Given the description of an element on the screen output the (x, y) to click on. 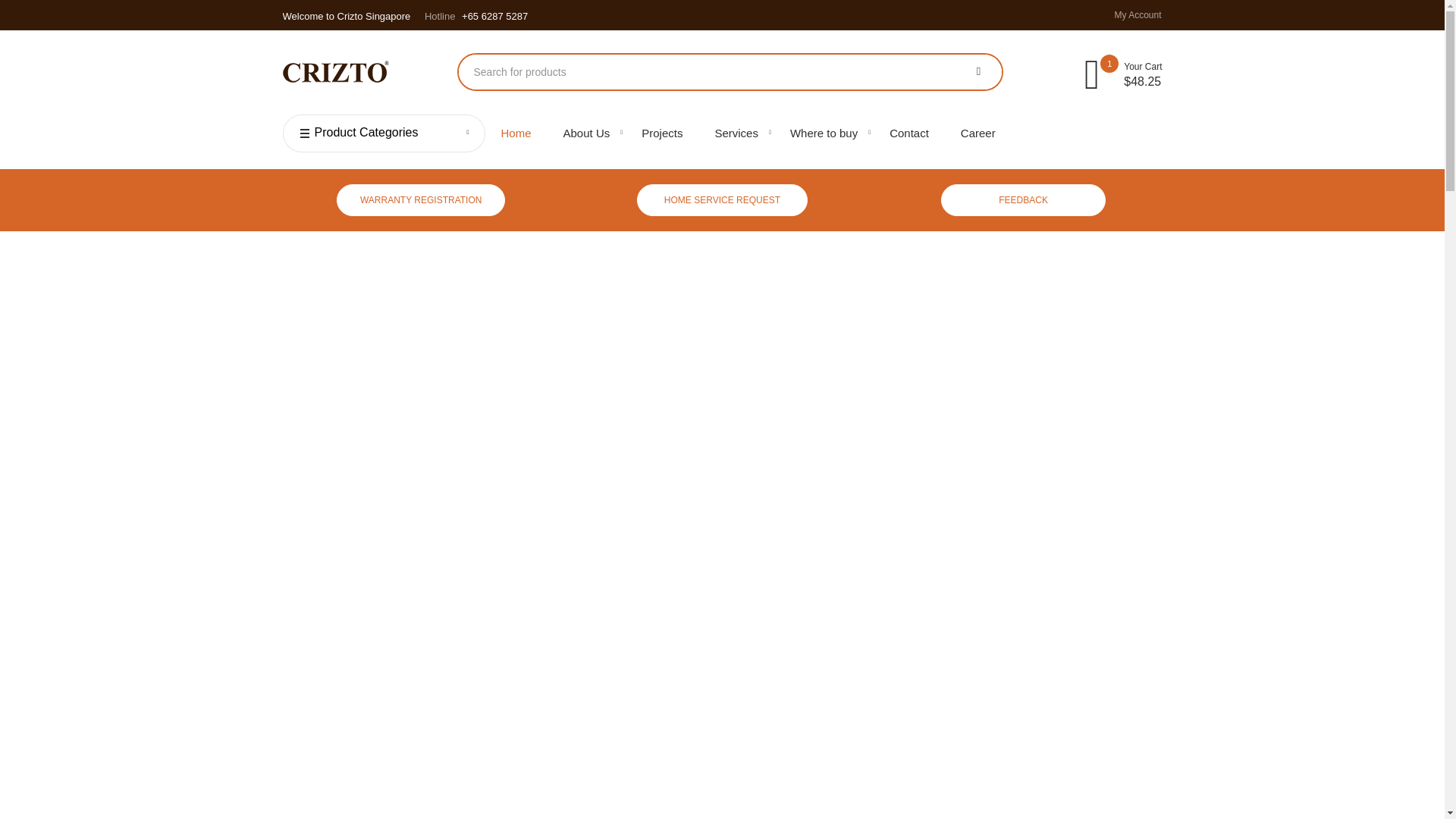
1 (1091, 72)
My Account (1131, 14)
Product Categories (383, 132)
